Given the description of an element on the screen output the (x, y) to click on. 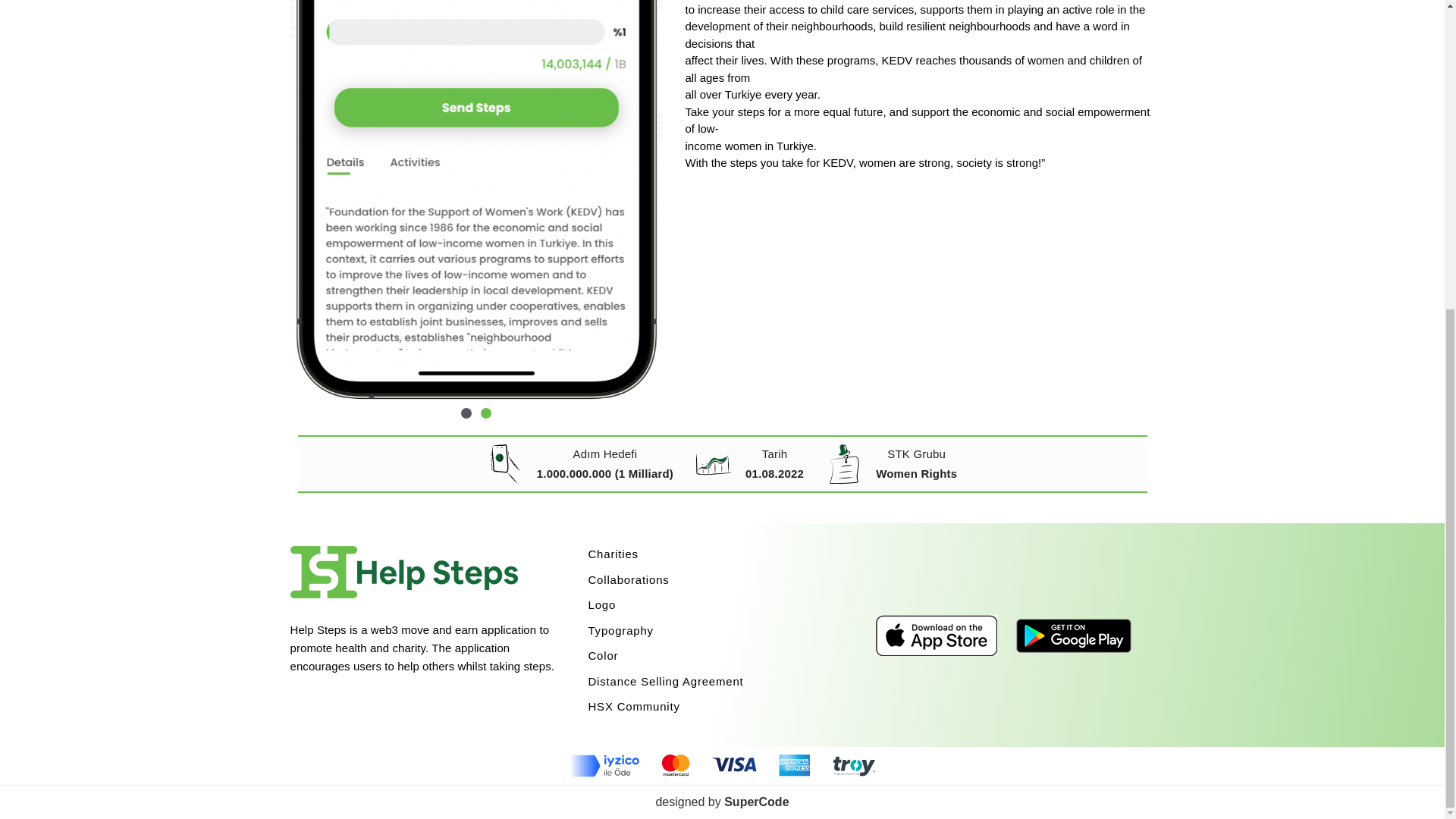
HSX Community (727, 706)
Charities (727, 554)
Distance Selling Agreement (727, 682)
Color (727, 656)
Collaborations (727, 579)
Typography (727, 630)
Logo (727, 605)
